Given the description of an element on the screen output the (x, y) to click on. 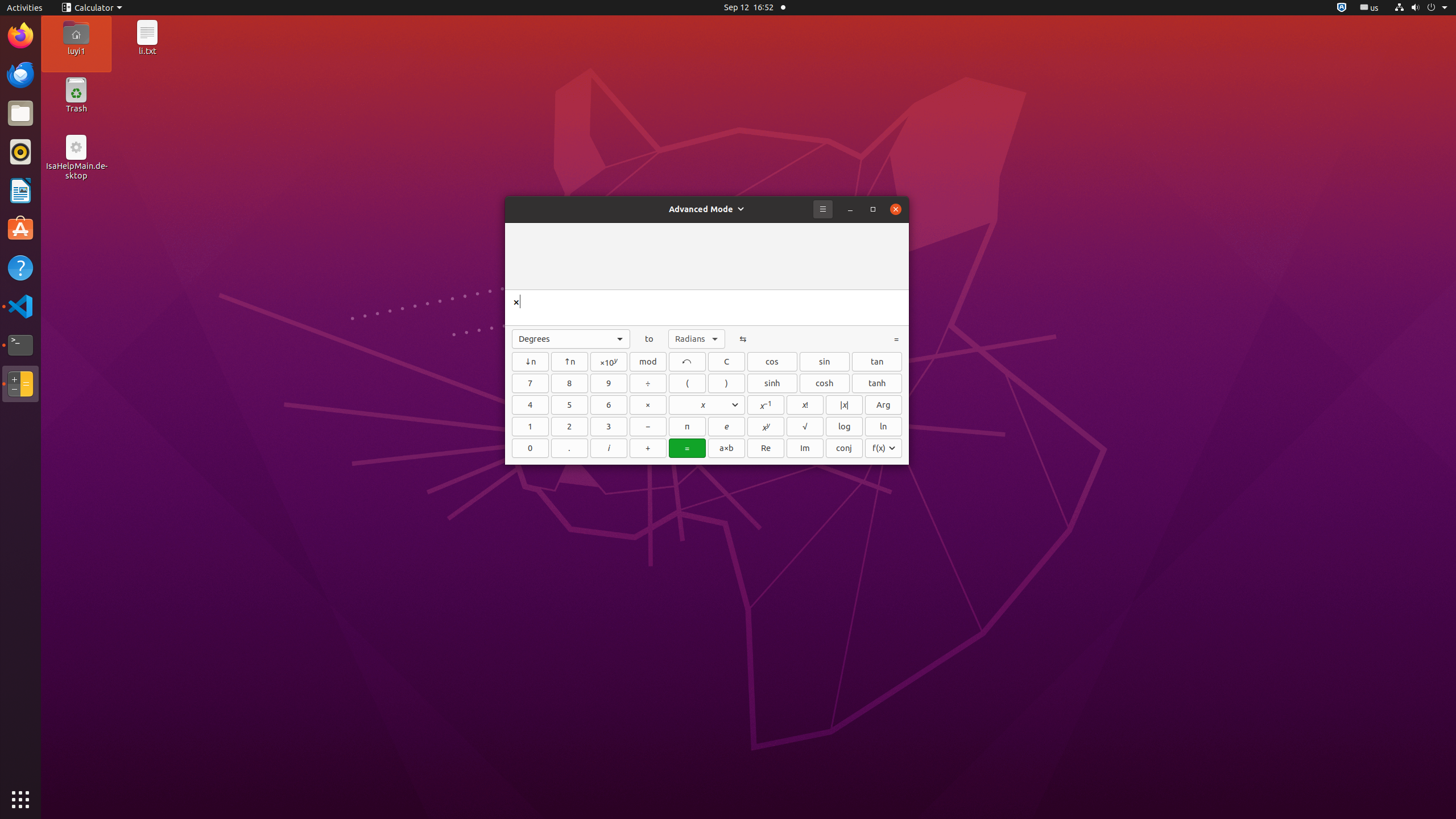
Radians Element type: combo-box (696, 338)
. Element type: push-button (569, 447)
C Element type: push-button (726, 361)
Activities Element type: label (24, 7)
